Given the description of an element on the screen output the (x, y) to click on. 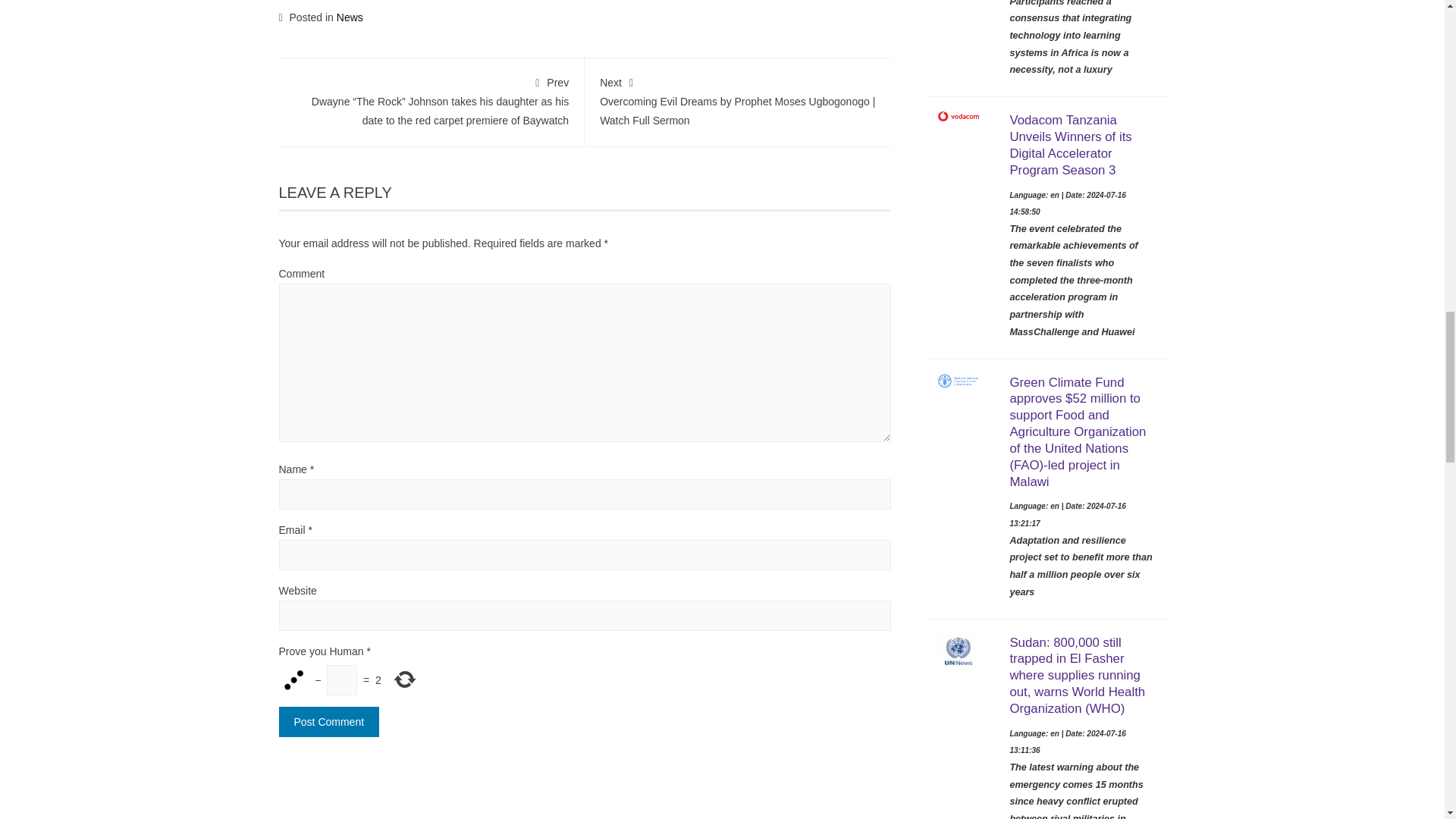
News (349, 17)
Post Comment (329, 721)
Post Comment (329, 721)
